Given the description of an element on the screen output the (x, y) to click on. 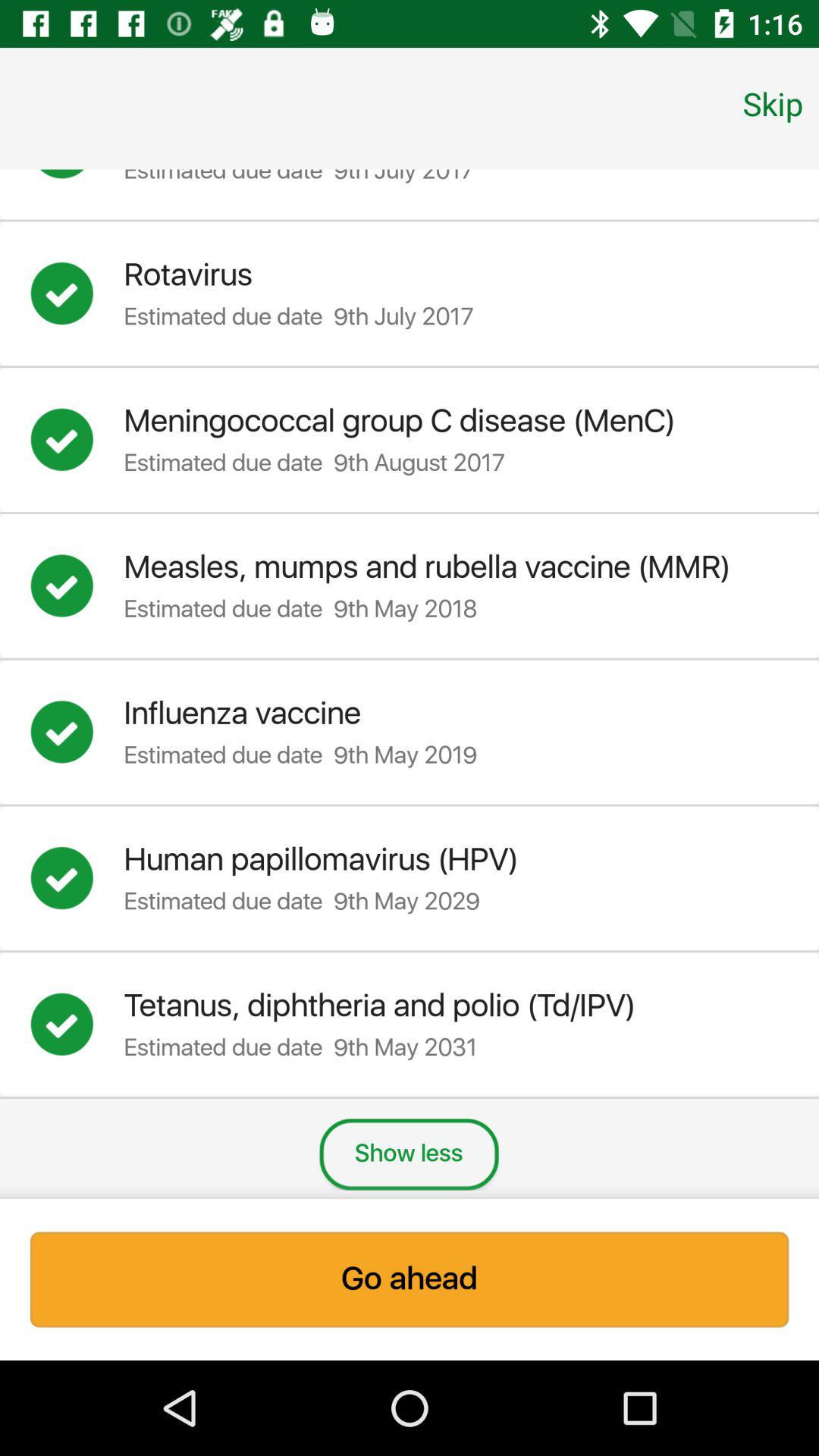
completed influenza vaccine (76, 732)
